Given the description of an element on the screen output the (x, y) to click on. 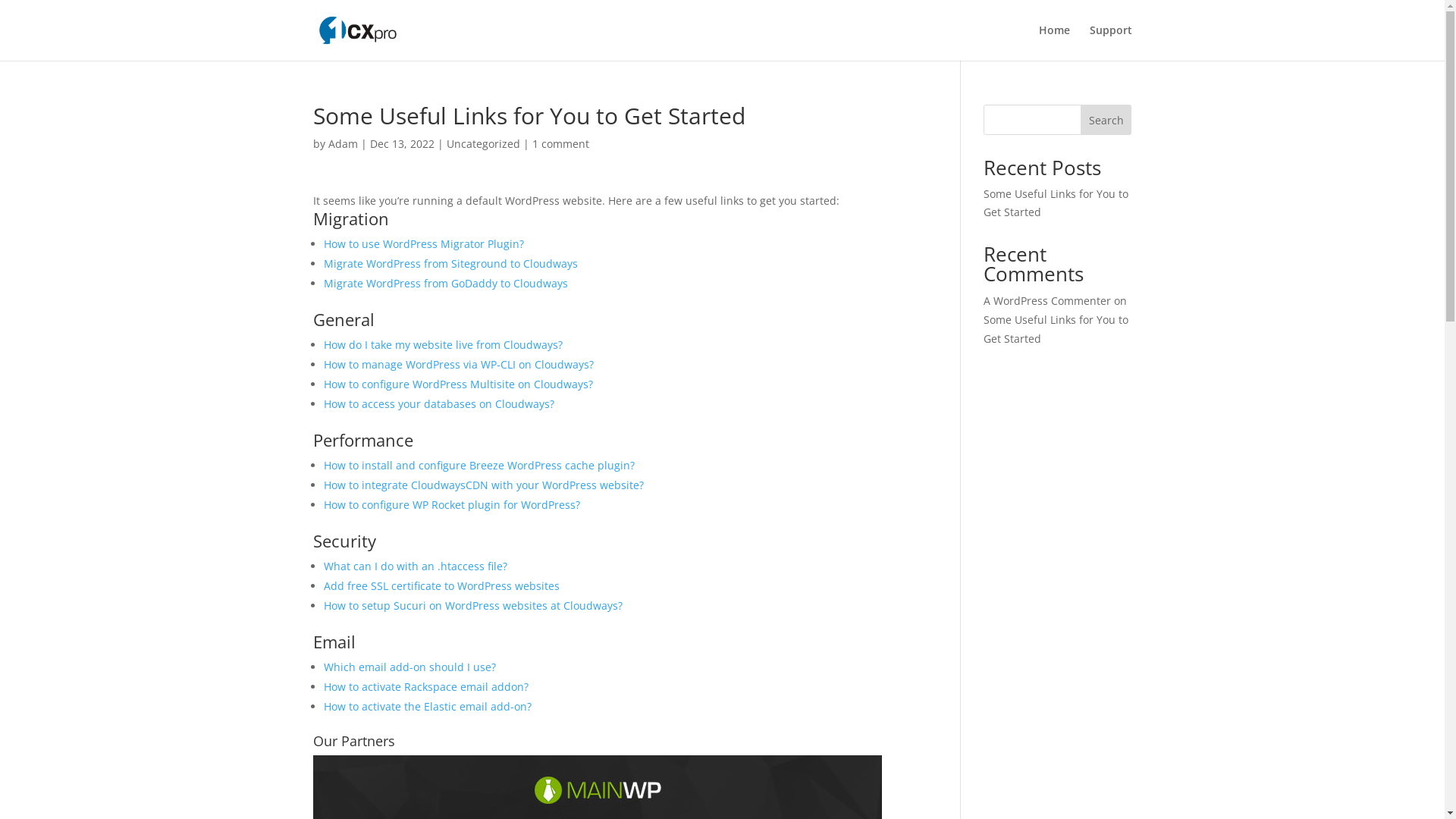
How to install and configure Breeze WordPress cache plugin? Element type: text (478, 465)
How to configure WordPress Multisite on Cloudways? Element type: text (457, 383)
Uncategorized Element type: text (482, 143)
How to manage WordPress via WP-CLI on Cloudways? Element type: text (458, 364)
How to activate Rackspace email addon? Element type: text (425, 686)
Some Useful Links for You to Get Started Element type: text (1055, 328)
Migrate WordPress from Siteground to Cloudways Element type: text (450, 263)
Search Element type: text (1106, 119)
A WordPress Commenter Element type: text (1046, 300)
Migrate WordPress from GoDaddy to Cloudways Element type: text (445, 283)
How to integrate CloudwaysCDN with your WordPress website? Element type: text (483, 484)
What can I do with an .htaccess file? Element type: text (414, 565)
How to access your databases on Cloudways? Element type: text (438, 403)
Which email add-on should I use? Element type: text (409, 666)
How to activate the Elastic email add-on? Element type: text (426, 706)
Adam Element type: text (342, 143)
Support Element type: text (1109, 42)
How to configure WP Rocket plugin for WordPress? Element type: text (451, 504)
How do I take my website live from Cloudways? Element type: text (442, 344)
Some Useful Links for You to Get Started Element type: text (1055, 202)
How to setup Sucuri on WordPress websites at Cloudways? Element type: text (472, 605)
How to use WordPress Migrator Plugin? Element type: text (423, 243)
Home Element type: text (1054, 42)
Add free SSL certificate to WordPress websites Element type: text (440, 585)
1 comment Element type: text (560, 143)
